Given the description of an element on the screen output the (x, y) to click on. 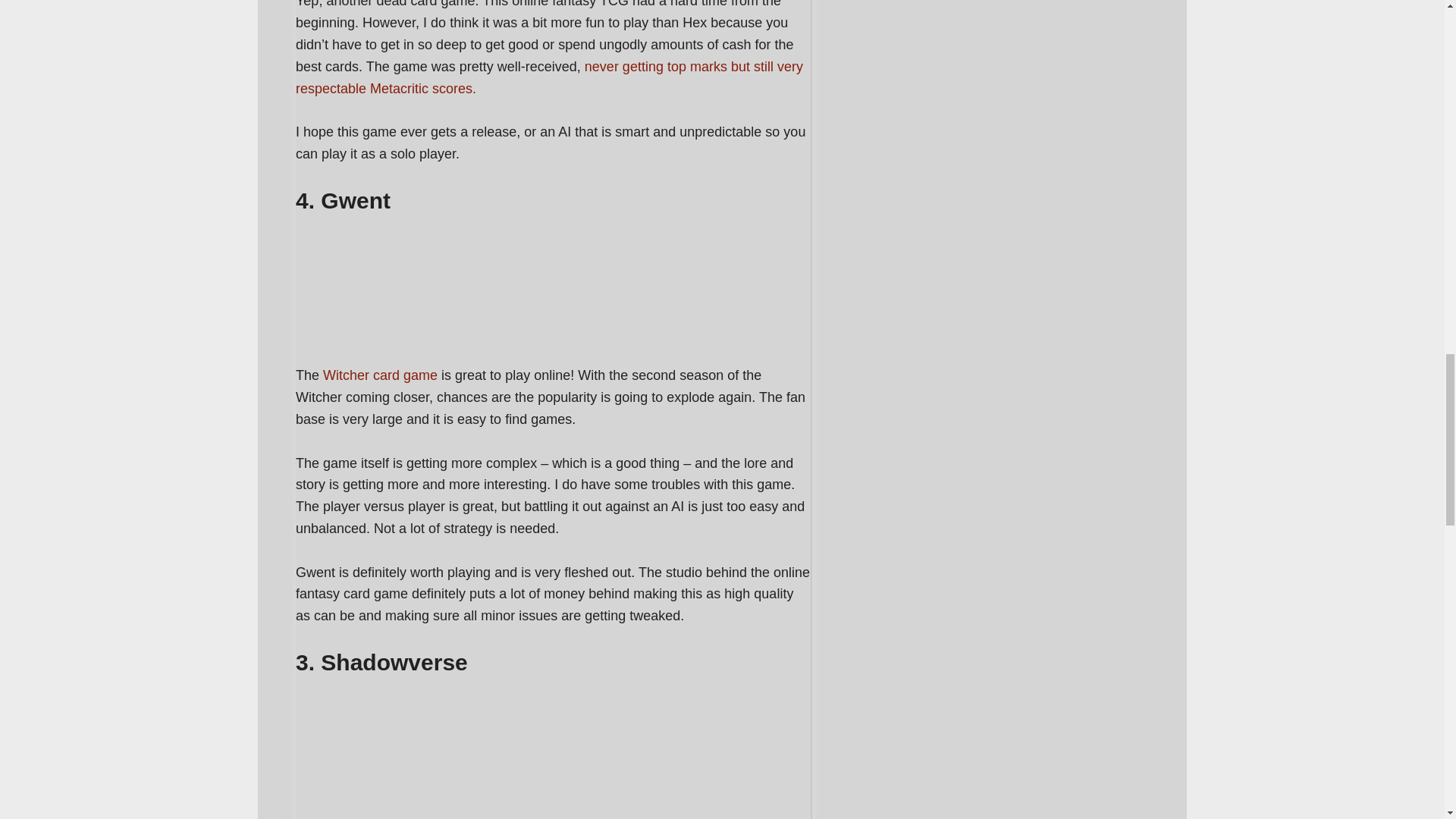
Witcher card game (378, 375)
